Given the description of an element on the screen output the (x, y) to click on. 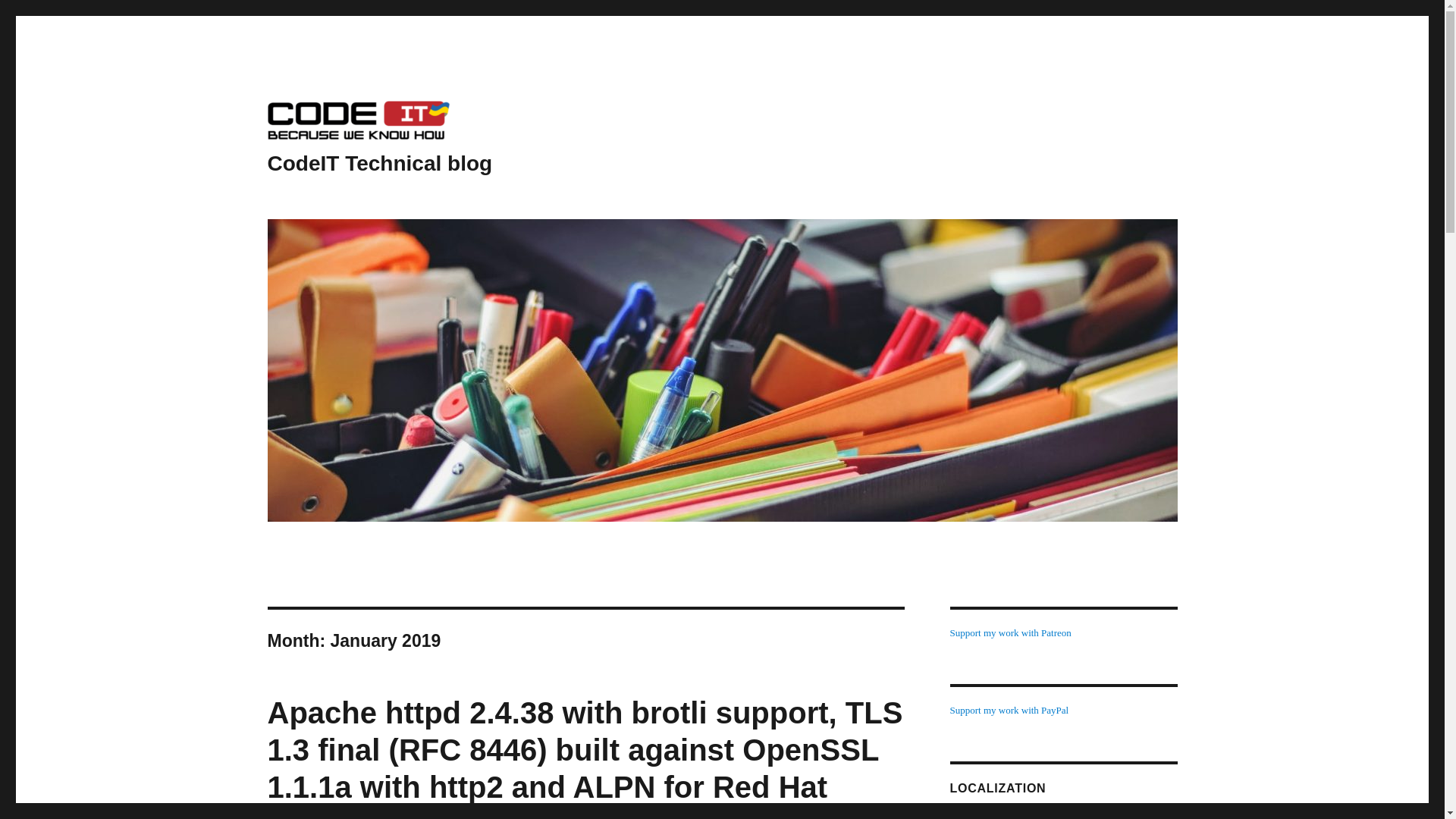
Support my work with Patreon (1009, 632)
English (974, 816)
CodeIT Technical blog (379, 163)
Support my work with PayPal (1008, 709)
